Given the description of an element on the screen output the (x, y) to click on. 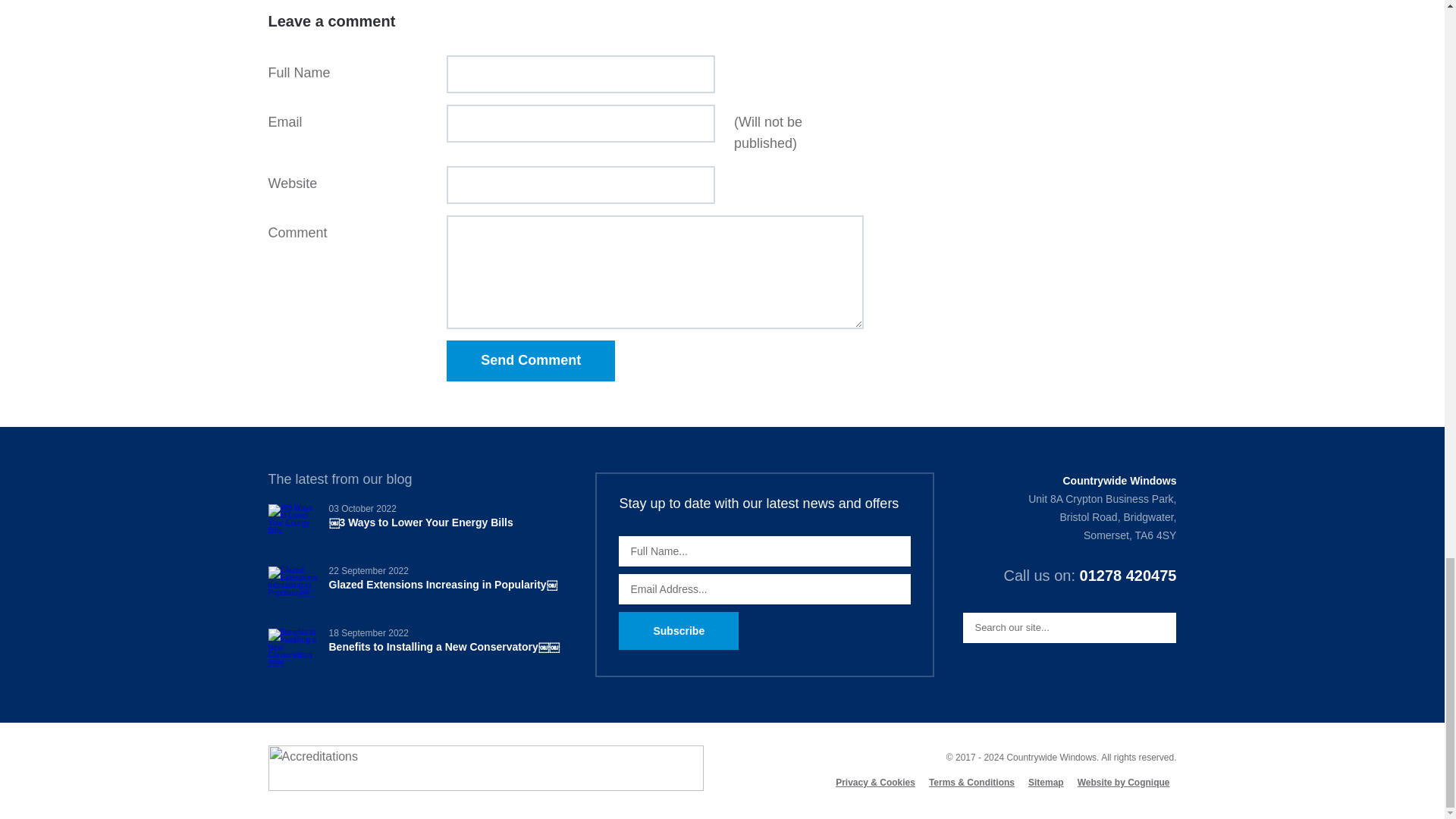
Subscribe (678, 630)
